Given the description of an element on the screen output the (x, y) to click on. 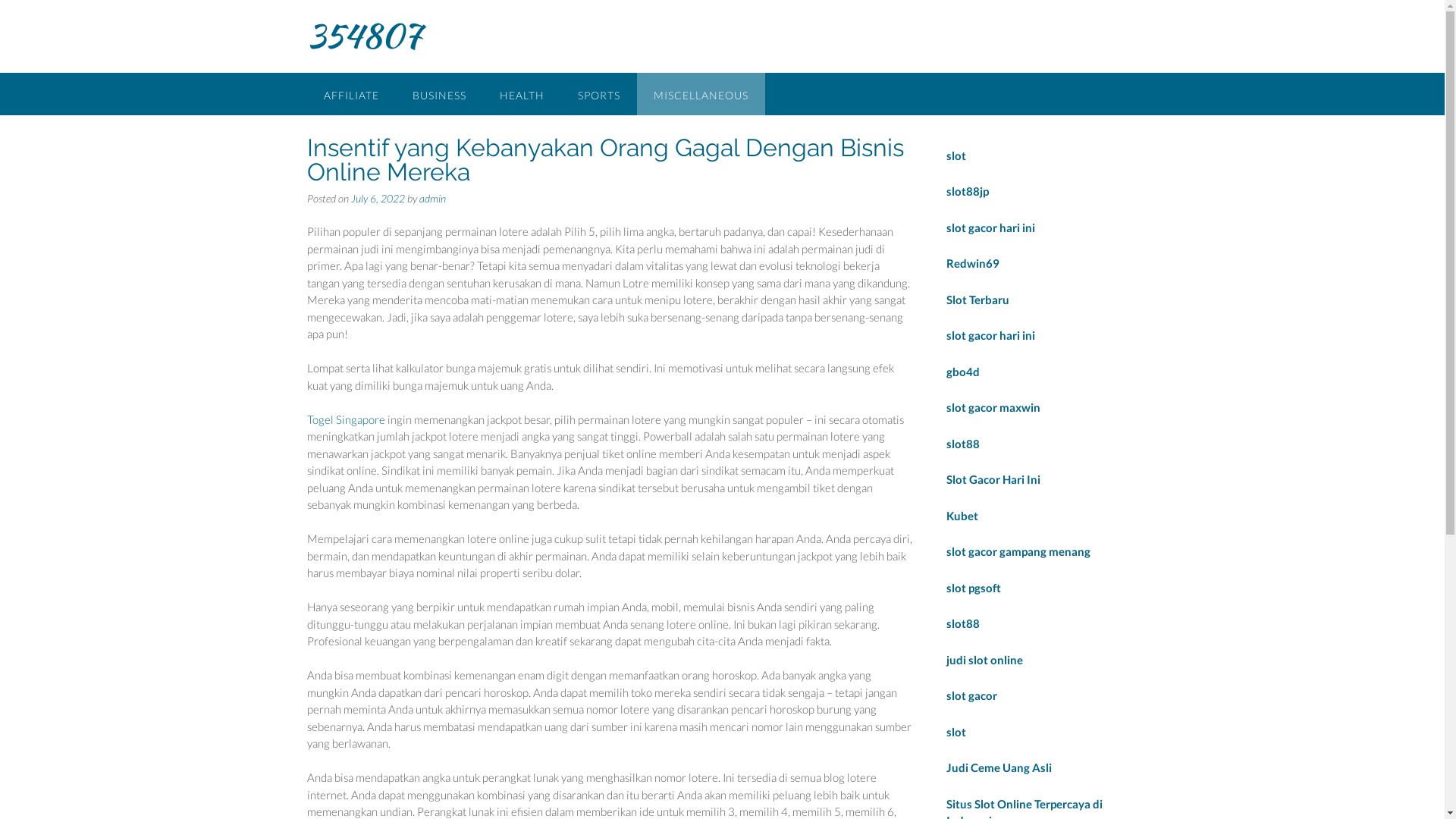
Togel Singapore Element type: text (345, 419)
Redwin69 Element type: text (972, 262)
Slot Gacor Hari Ini Element type: text (993, 479)
354807 Element type: text (363, 35)
admin Element type: text (431, 197)
slot gacor maxwin Element type: text (993, 407)
BUSINESS Element type: text (439, 93)
slot gacor hari ini Element type: text (990, 335)
slot gacor gampang menang Element type: text (1018, 551)
July 6, 2022 Element type: text (377, 197)
slot88jp Element type: text (967, 190)
Kubet Element type: text (962, 514)
slot88 Element type: text (962, 443)
slot gacor hari ini Element type: text (990, 226)
AFFILIATE Element type: text (350, 93)
slot gacor Element type: text (971, 695)
SPORTS Element type: text (599, 93)
gbo4d Element type: text (962, 370)
Judi Ceme Uang Asli Element type: text (998, 767)
judi slot online Element type: text (984, 658)
slot Element type: text (956, 731)
MISCELLANEOUS Element type: text (701, 93)
Slot Terbaru Element type: text (977, 299)
slot pgsoft Element type: text (973, 587)
slot Element type: text (956, 155)
HEALTH Element type: text (521, 93)
slot88 Element type: text (962, 623)
